Given the description of an element on the screen output the (x, y) to click on. 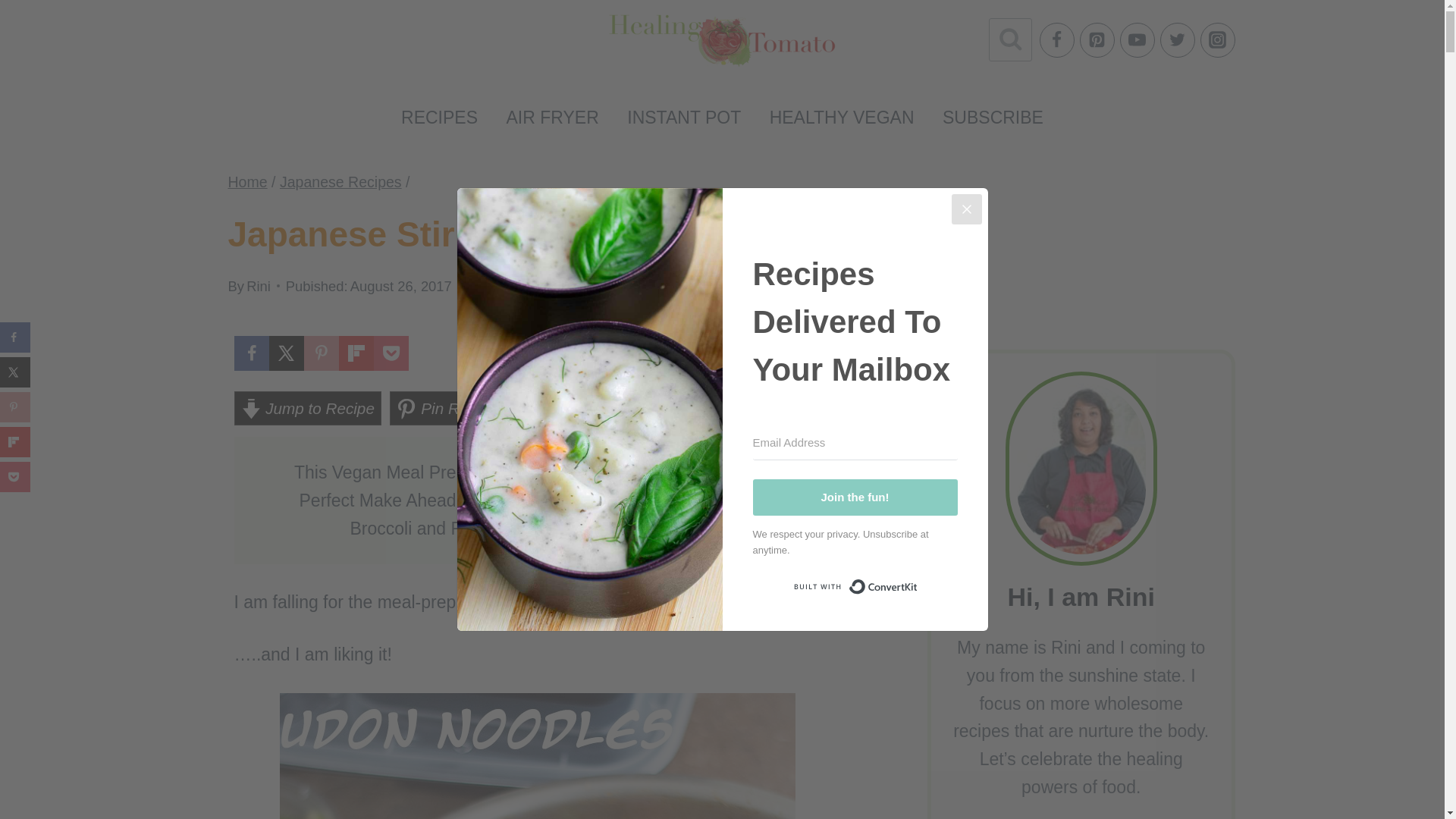
Share on Facebook (249, 353)
HEALTHY VEGAN (841, 117)
Save to Pinterest (319, 353)
Jump to Recipe (306, 408)
Pin Recipe (446, 408)
Share on X (284, 353)
Share on Pocket (389, 353)
RECIPES (439, 117)
Share on Flipboard (354, 353)
AIR FRYER (552, 117)
SUBSCRIBE (992, 117)
Rini (258, 286)
Save (546, 408)
Home (246, 181)
INSTANT POT (683, 117)
